Given the description of an element on the screen output the (x, y) to click on. 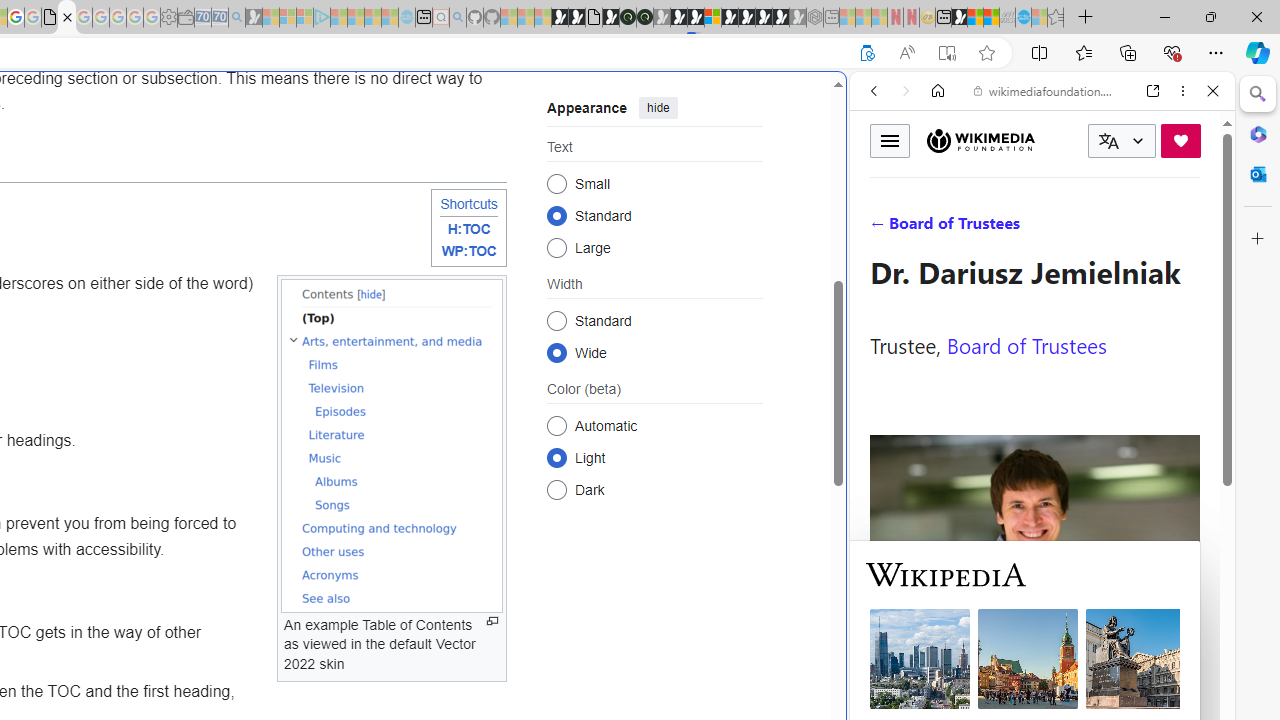
Support Wikipedia? (867, 53)
Favorites - Sleeping (1055, 17)
Web scope (882, 180)
github - Search - Sleeping (457, 17)
Wikimedia Foundation (980, 140)
